Given the description of an element on the screen output the (x, y) to click on. 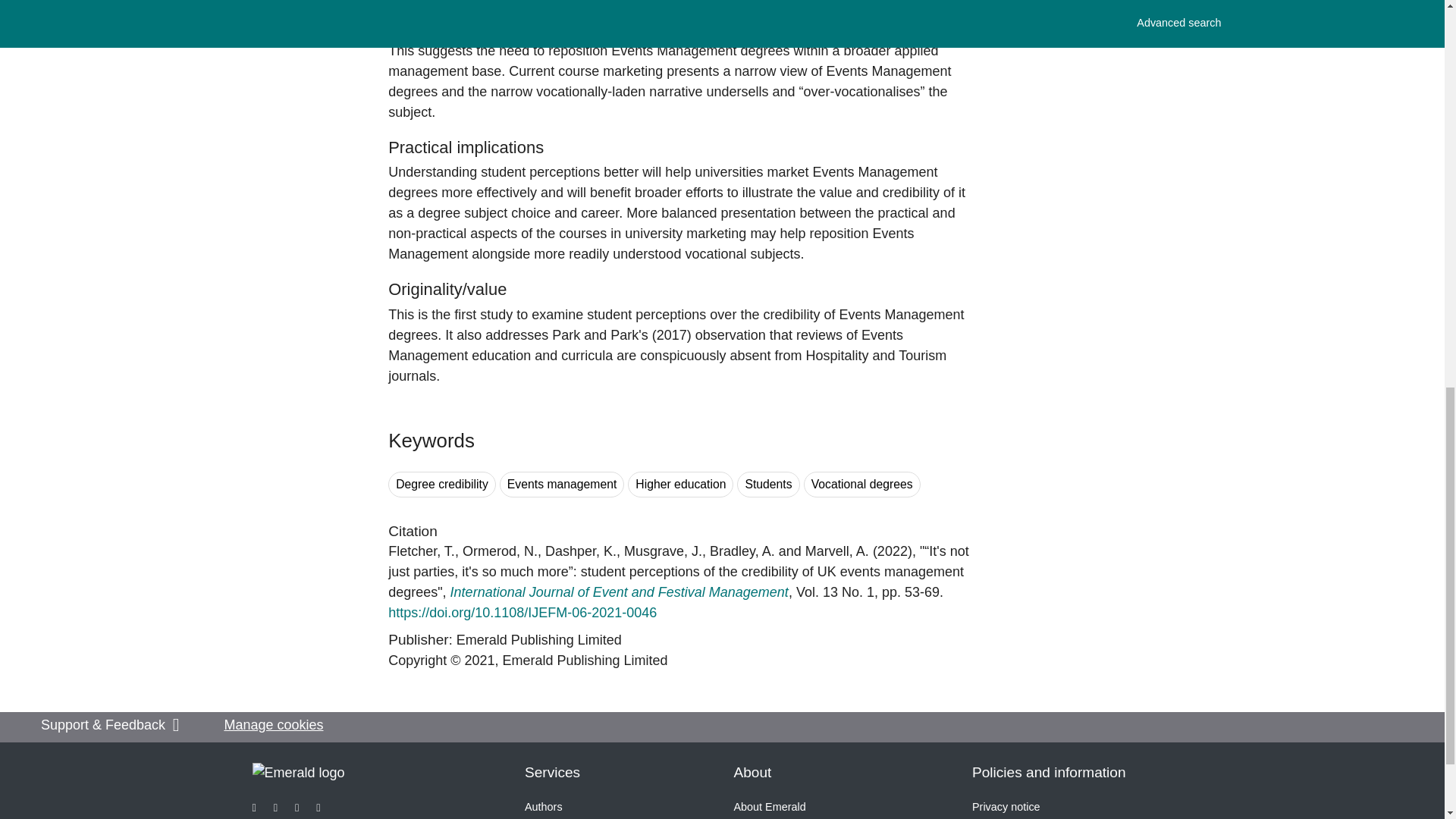
Andrew Bradley (742, 550)
Marvell, A. (837, 550)
Dashper, K. (579, 550)
Katherine Dashper (579, 550)
Higher education (680, 484)
Manage cookies (273, 724)
Search for keyword Degree credibility (442, 484)
Events management (561, 484)
Neil Ormerod (500, 550)
International Journal of Event and Festival Management (619, 591)
